Given the description of an element on the screen output the (x, y) to click on. 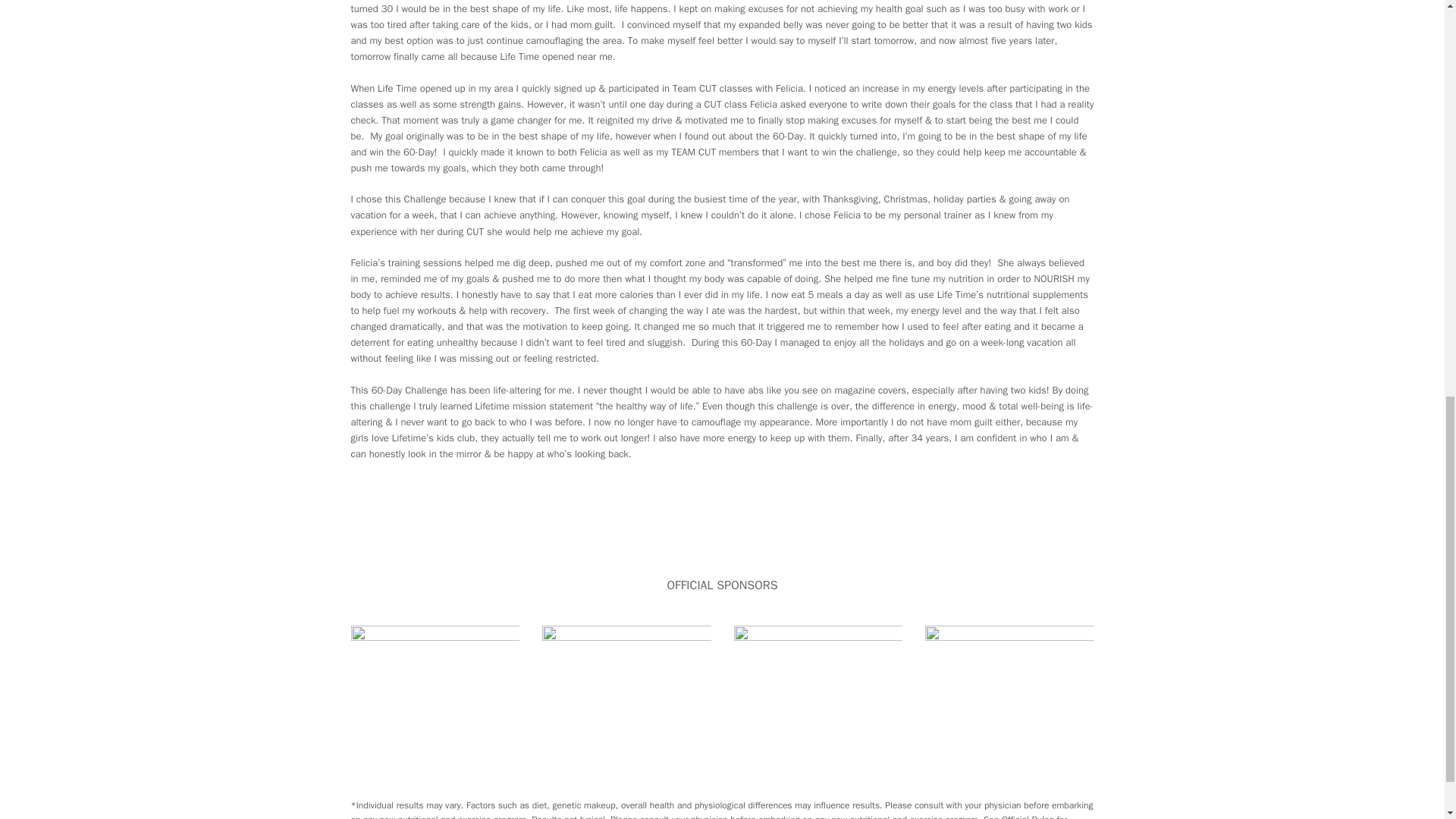
trin22559879-60day-web-sponsor-2-790x400 (817, 668)
trin22559879-60day-web-sponsor-1-790x400 (626, 668)
trin22559879-60day-web-sponsor-4-790x400 (1009, 668)
trin22559879-60day-web-sponsor-3-790x400 (434, 668)
